Given the description of an element on the screen output the (x, y) to click on. 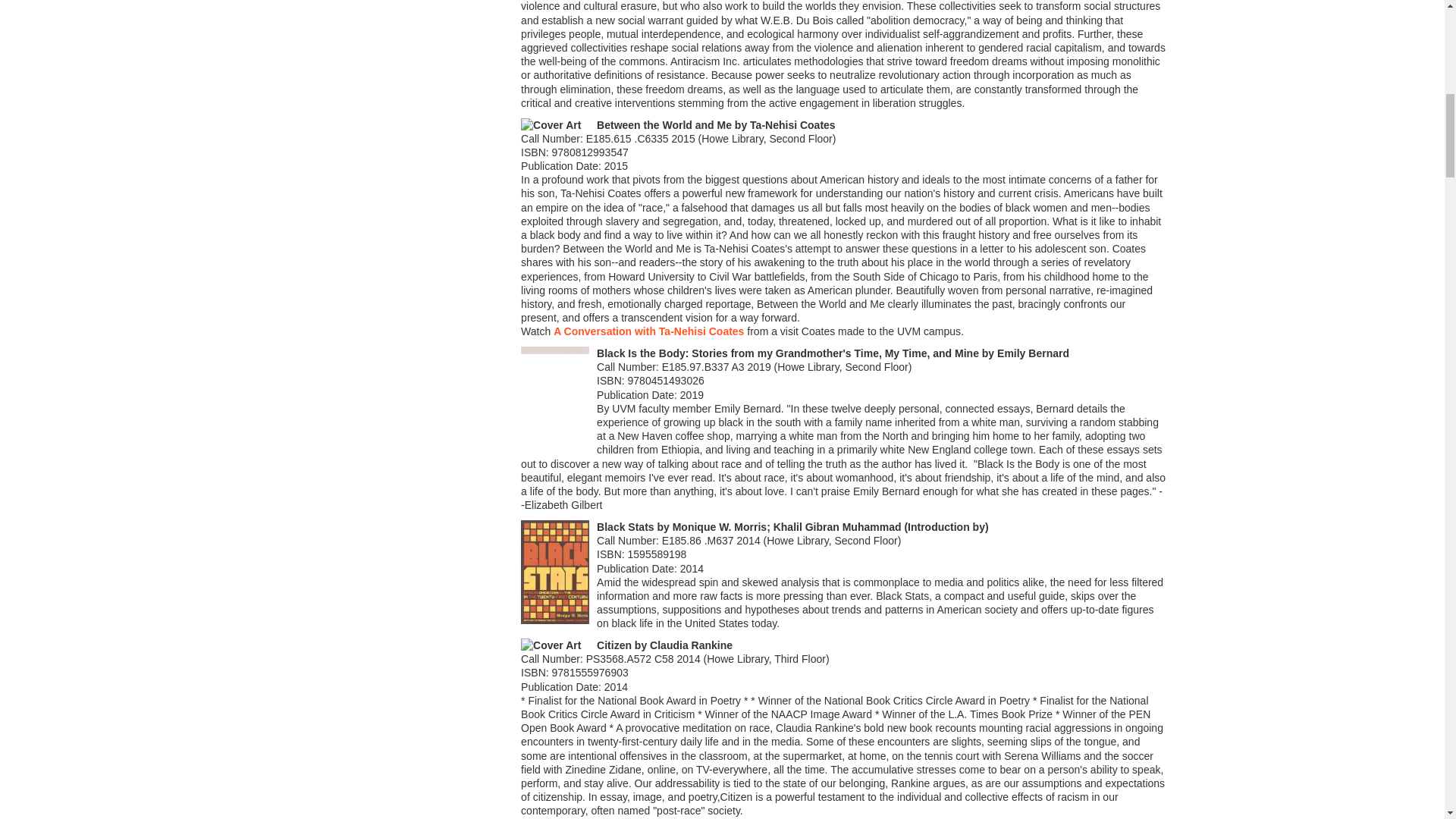
A Conversation with Ta-Nehisi Coates (649, 331)
